Given the description of an element on the screen output the (x, y) to click on. 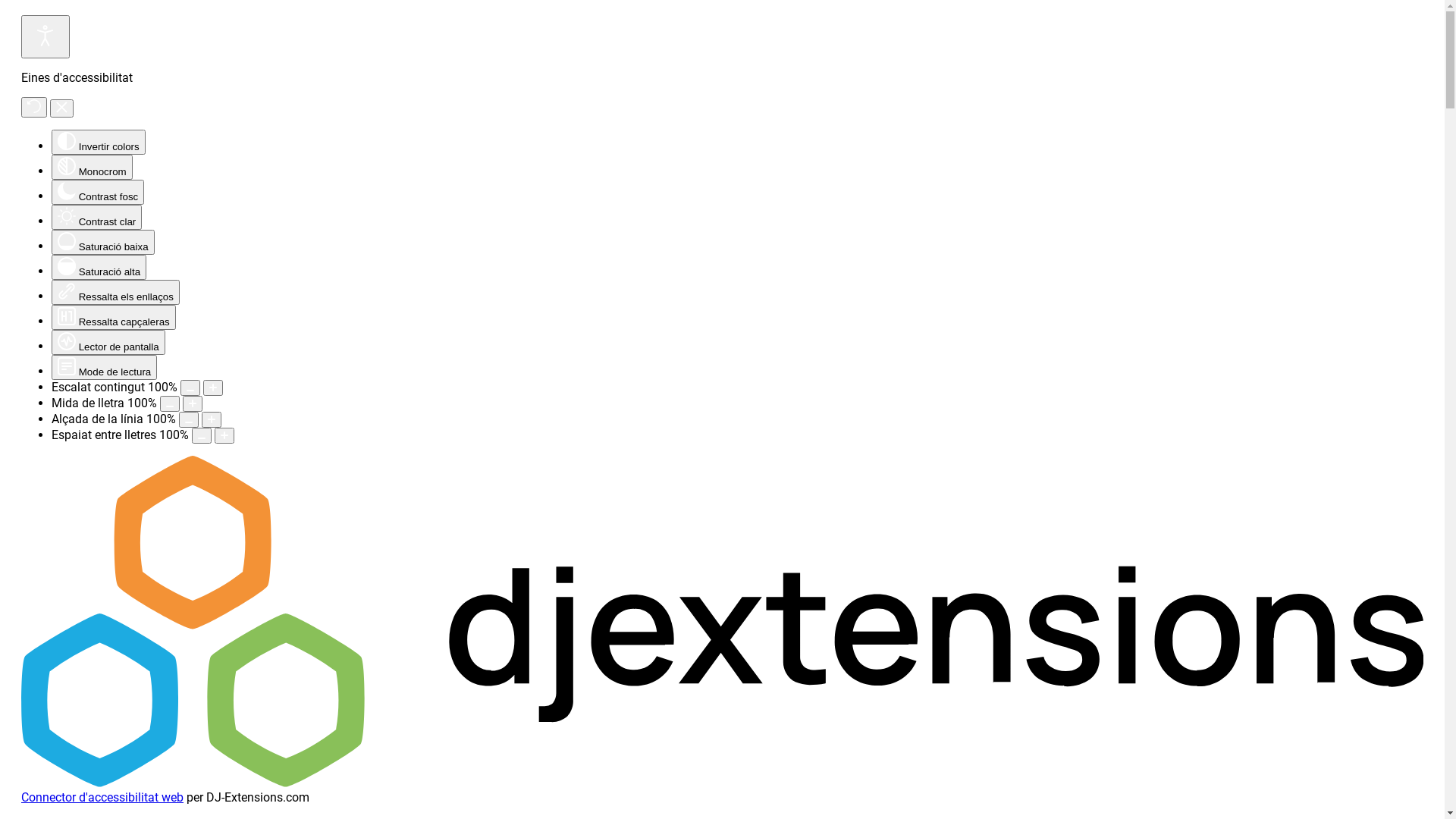
Monocrom Element type: text (91, 166)
Disminueix la mida de lletra Element type: hover (169, 403)
Invertir colors Element type: text (98, 141)
Connector d'accessibilitat web Element type: text (102, 797)
Augmenta la mida de lletra Element type: hover (192, 403)
Augmenta la mida del contingut Element type: hover (212, 387)
Reset Element type: hover (34, 107)
Tanca les eines d'accessibilitat Element type: hover (61, 108)
Eines d'accessibilitat Element type: hover (45, 36)
Augmenta l'espai entre lletres Element type: hover (224, 435)
Contrast clar Element type: text (96, 216)
Mode de lectura Element type: text (103, 366)
Disminueix l'espai entre lletres Element type: hover (201, 435)
Lector de pantalla Element type: text (108, 341)
Disminueix la mida del contingut Element type: hover (190, 387)
Contrast fosc Element type: text (97, 191)
